Given the description of an element on the screen output the (x, y) to click on. 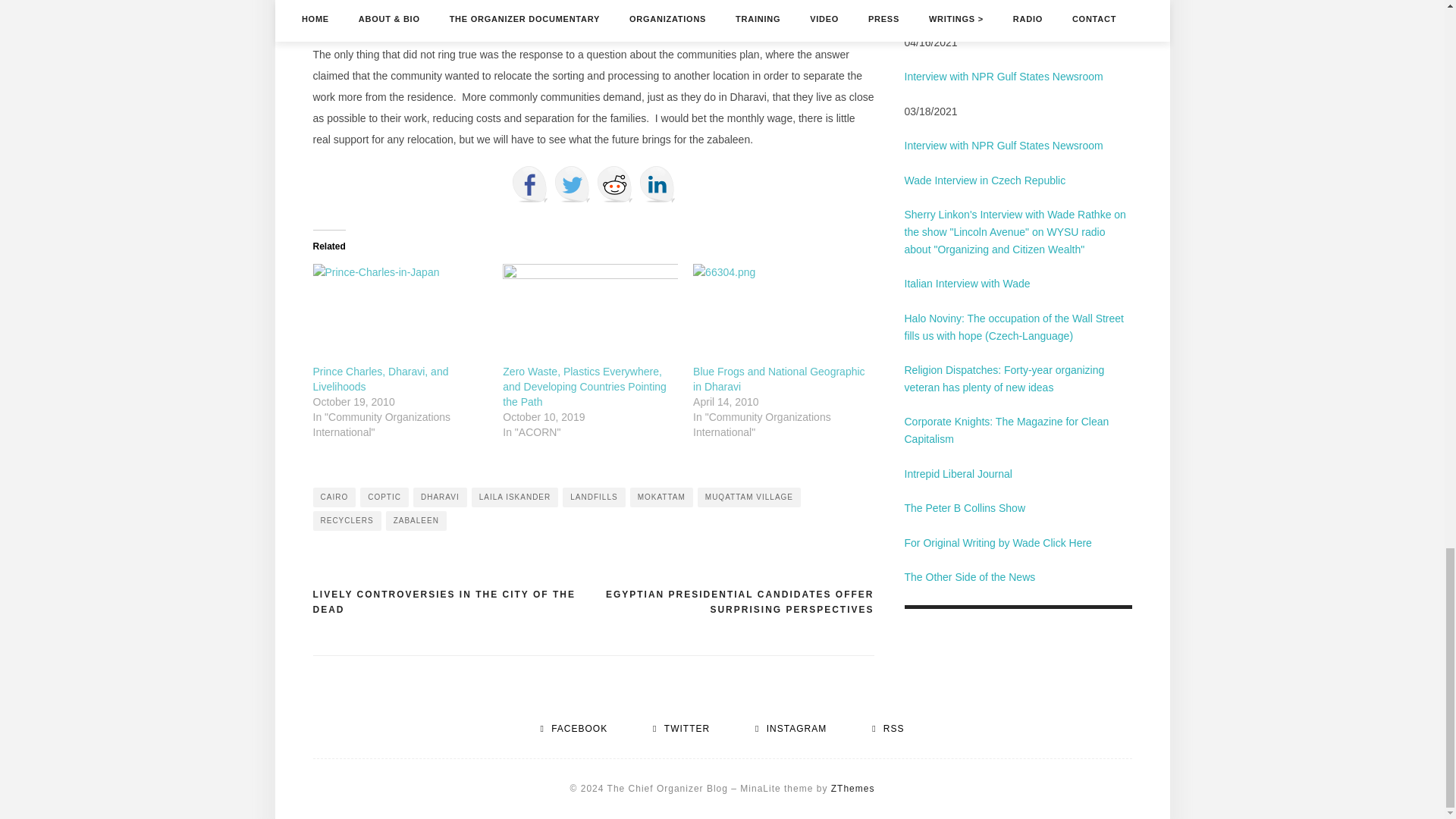
LANDFILLS (593, 496)
Share on Twitter (571, 184)
DHARAVI (440, 496)
MOKATTAM (661, 496)
Prince Charles, Dharavi, and Livelihoods (380, 379)
LAILA ISKANDER (515, 496)
Share on Facebook (529, 184)
CAIRO (334, 496)
Blue Frogs and National Geographic in Dharavi (778, 379)
